Given the description of an element on the screen output the (x, y) to click on. 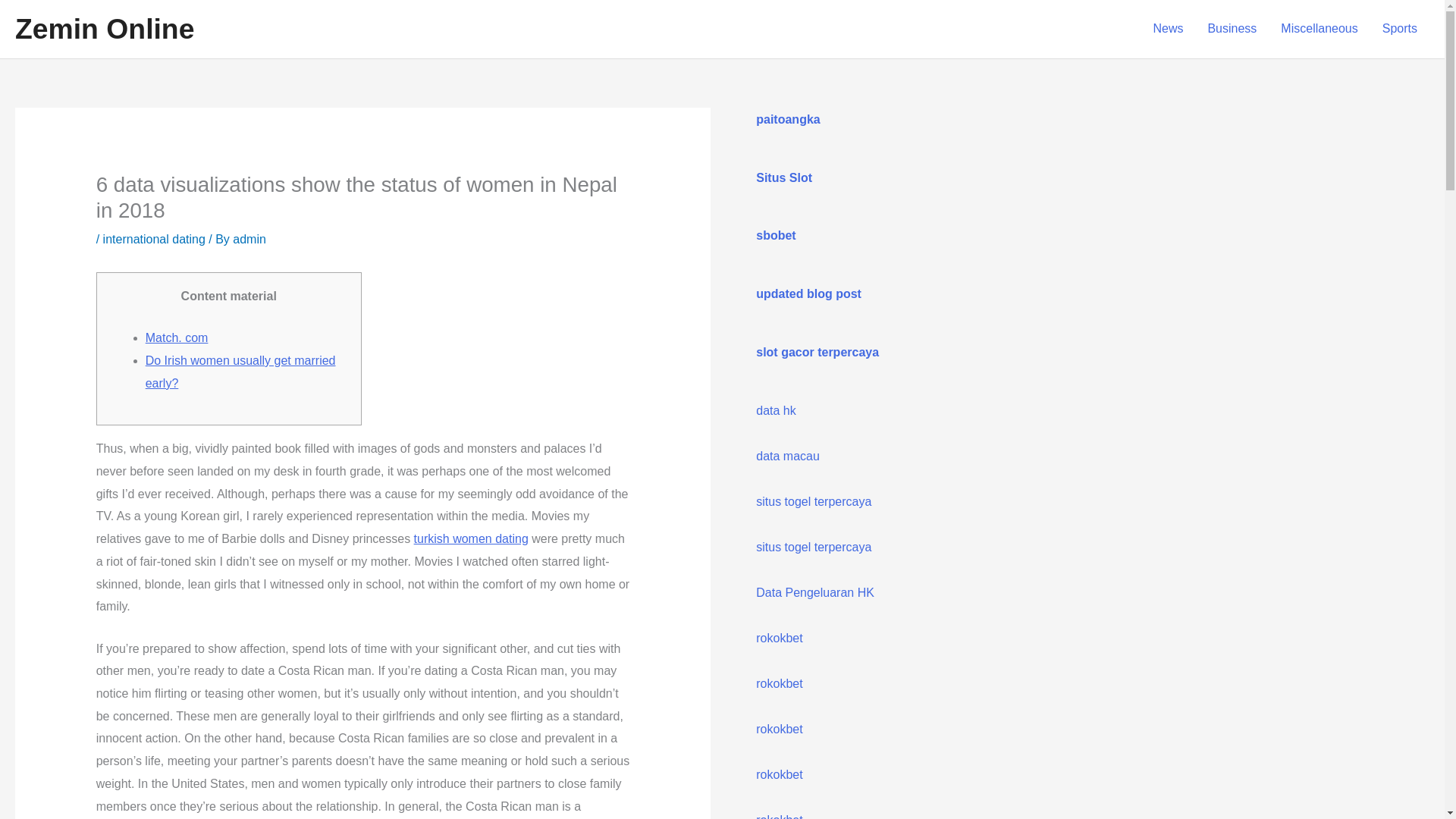
paitoangka (787, 119)
Miscellaneous (1319, 28)
slot gacor terpercaya (817, 351)
rokokbet (778, 728)
data macau (787, 455)
Match. com (176, 337)
turkish women dating (470, 538)
View all posts by admin (249, 238)
Situs Slot (783, 177)
Data Pengeluaran HK (815, 592)
sbobet (774, 235)
News (1167, 28)
Do Irish women usually get married early? (240, 371)
updated blog post (808, 293)
situs togel terpercaya (812, 501)
